Given the description of an element on the screen output the (x, y) to click on. 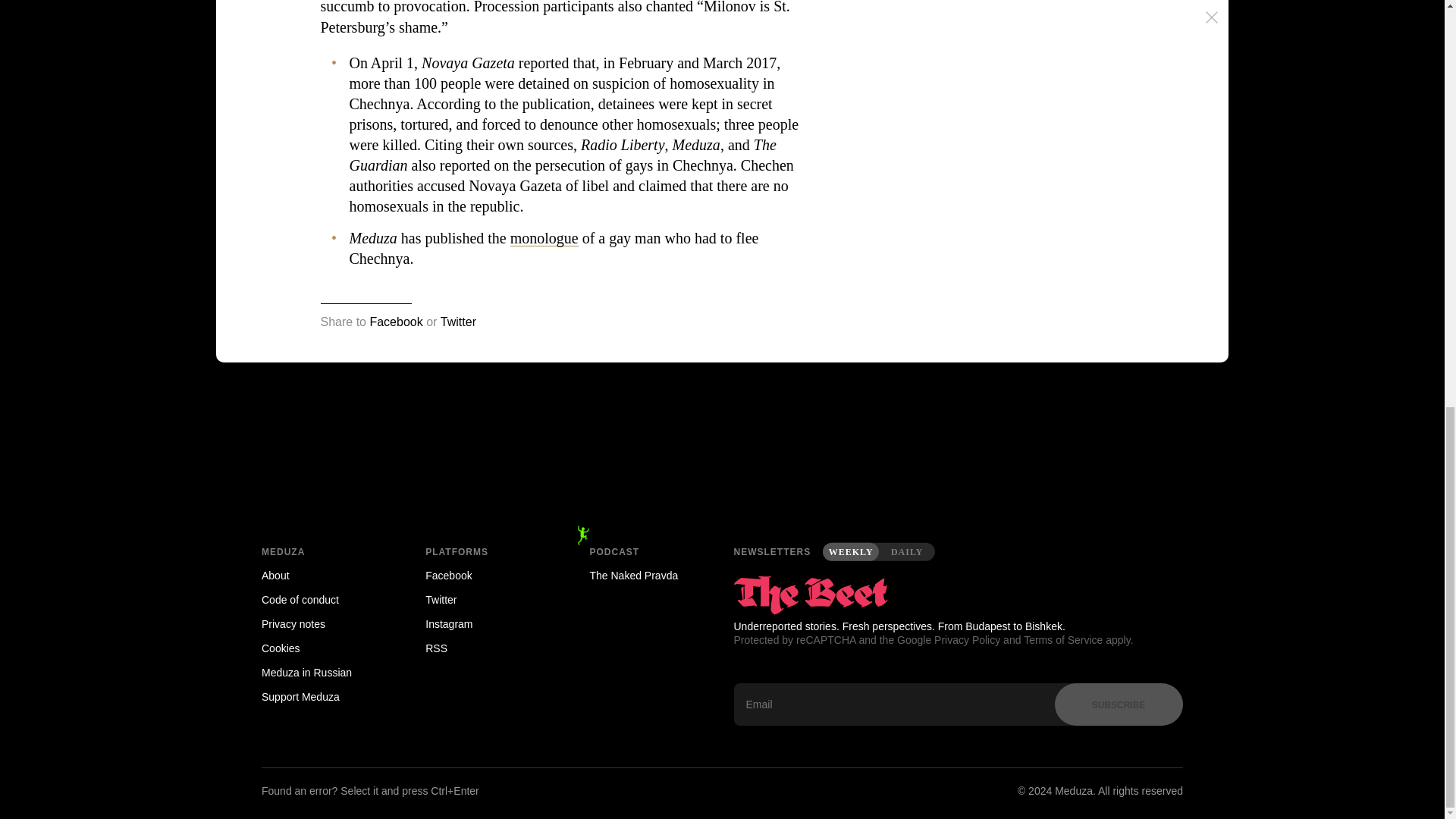
Code of conduct (322, 599)
Support Meduza (322, 696)
Twitter (458, 322)
Privacy Policy (967, 639)
Terms of Service (1062, 639)
Meduza in Russian (322, 672)
RSS (486, 648)
SUBSCRIBE (1118, 704)
Facebook (486, 575)
Instagram (486, 623)
Cookies (322, 648)
Privacy notes (322, 623)
About (322, 575)
The Naked Pravda (650, 575)
Twitter (486, 599)
